Given the description of an element on the screen output the (x, y) to click on. 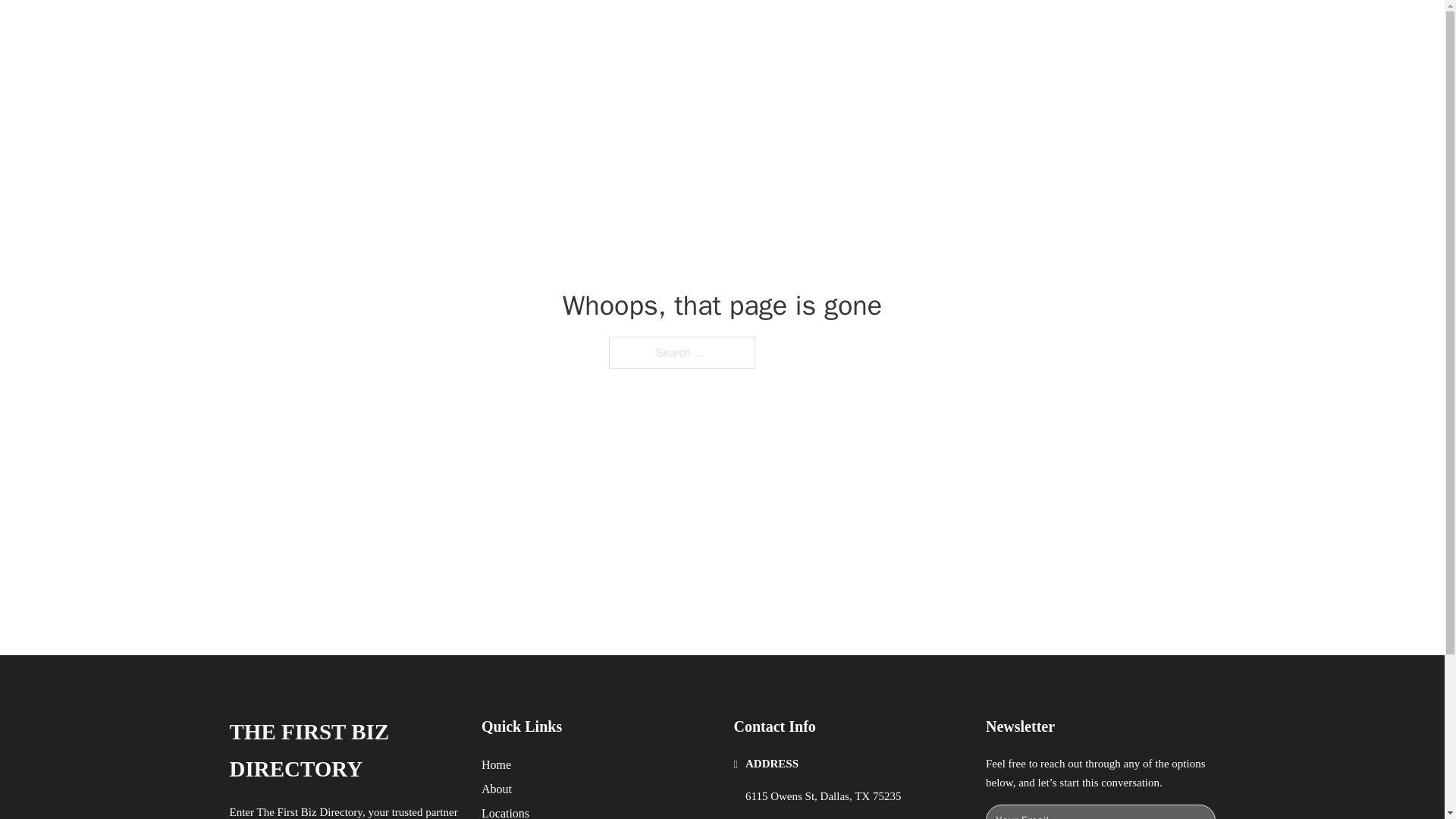
THE FIRST BIZ DIRECTORY (343, 750)
HOME (919, 29)
THE FIRST BIZ DIRECTORY (438, 28)
Home (496, 764)
LOCATIONS (990, 29)
About (496, 788)
Locations (505, 811)
